Given the description of an element on the screen output the (x, y) to click on. 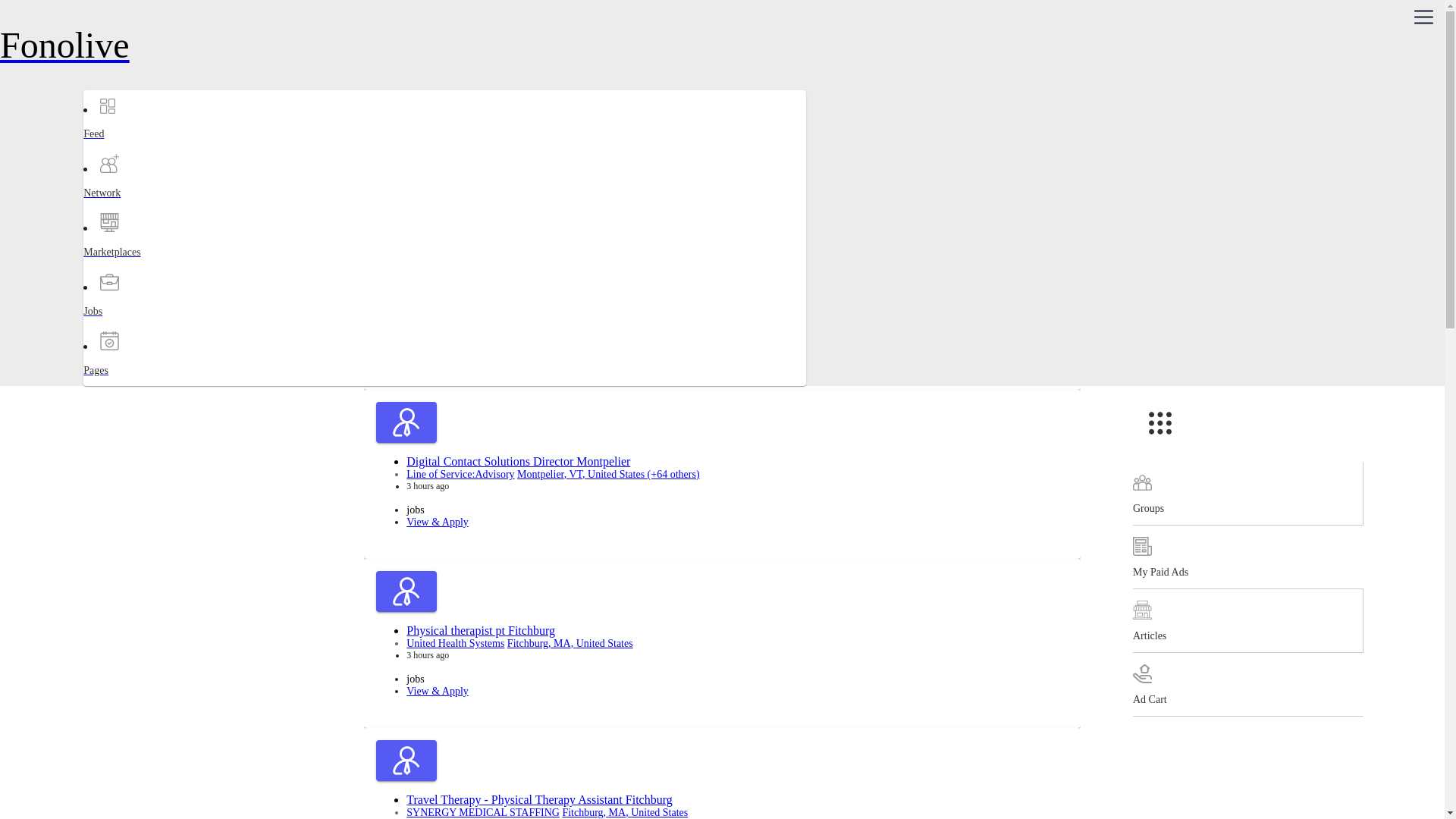
SYNERGY MEDICAL STAFFING (482, 812)
Fitchburg, MA, United States (569, 643)
Marketplaces (142, 265)
Articles (1247, 620)
Fitchburg, MA, United States (515, 305)
Fitchburg, MA, United States (624, 812)
Groups (1247, 493)
Digital Contact Solutions Director Montpelier (518, 461)
AutoZone (427, 305)
Jobs (142, 325)
Feed (142, 147)
United Health Systems (454, 643)
Network (142, 206)
Travel Therapy - Physical Therapy Assistant Fitchburg (538, 799)
Ad Cart (1247, 684)
